Given the description of an element on the screen output the (x, y) to click on. 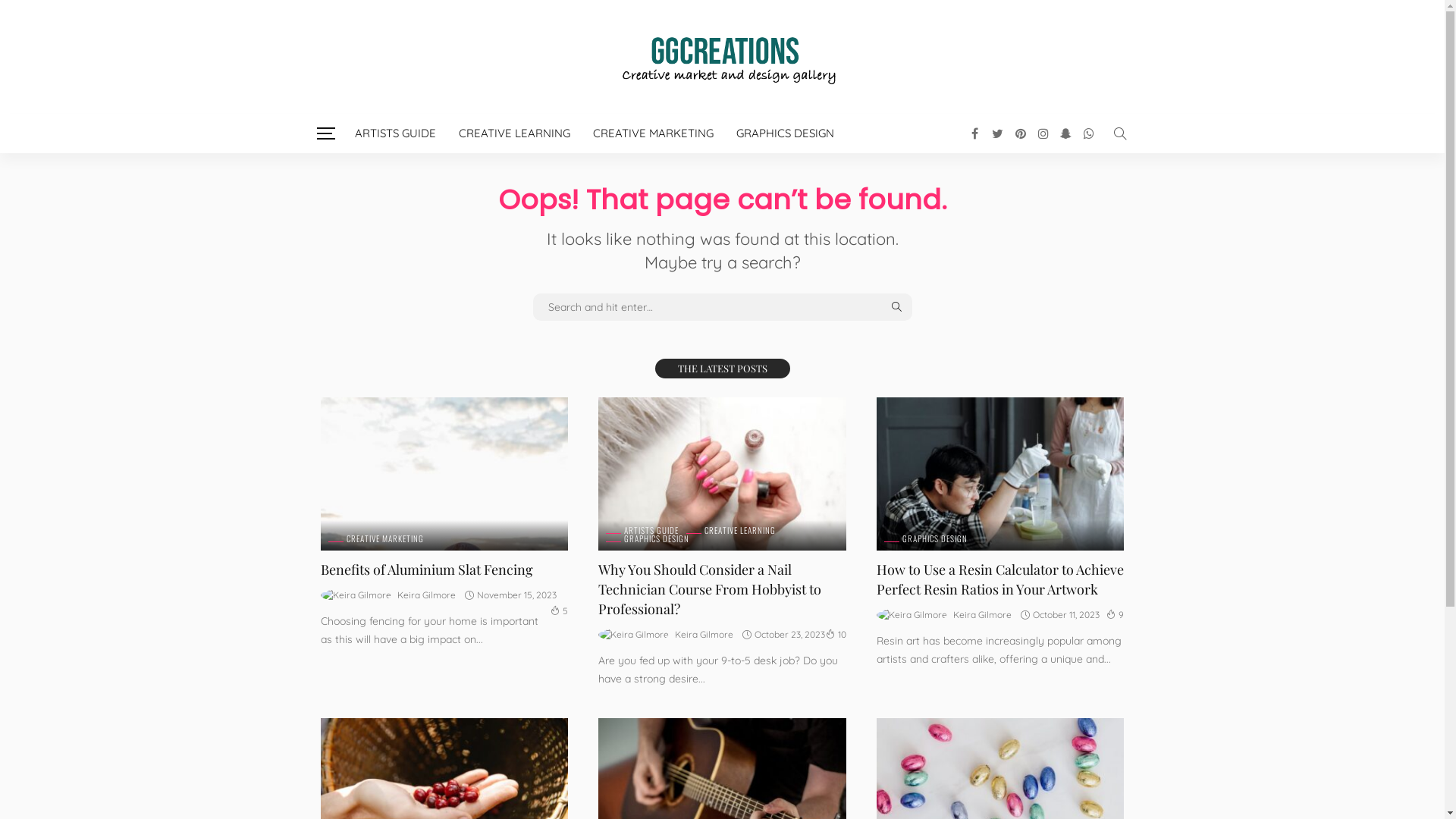
5 Element type: text (558, 610)
9 Element type: text (1114, 614)
CREATIVE MARKETING Element type: text (375, 538)
GRAPHICS DESIGN Element type: text (925, 538)
Creative market and design gallery Element type: hover (721, 56)
ARTISTS GUIDE Element type: text (641, 530)
10 Element type: text (835, 634)
Keira Gilmore Element type: text (426, 594)
GRAPHICS DESIGN Element type: text (647, 538)
Keira Gilmore Element type: text (703, 634)
CREATIVE MARKETING Element type: text (652, 133)
ARTISTS GUIDE Element type: text (394, 133)
search for: Element type: hover (721, 306)
CREATIVE LEARNING Element type: text (730, 530)
CREATIVE LEARNING Element type: text (514, 133)
Benefits of Aluminium Slat Fencing Element type: text (426, 569)
Keira Gilmore Element type: text (982, 614)
search Element type: hover (1119, 133)
GRAPHICS DESIGN Element type: text (784, 133)
Benefits of Aluminium Slat Fencing Element type: hover (443, 473)
